Given the description of an element on the screen output the (x, y) to click on. 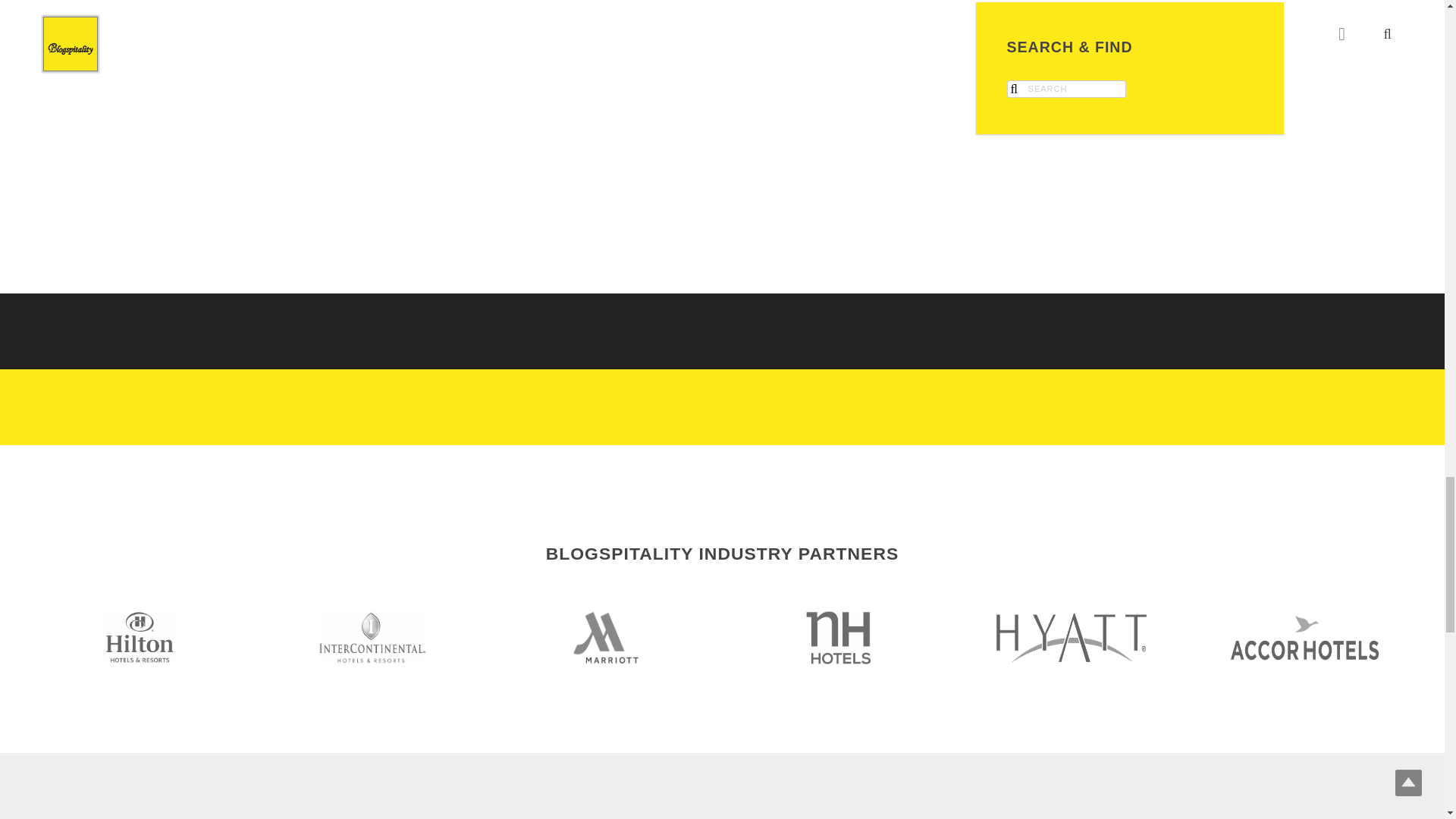
Marriott Hotels (605, 637)
NH Hotels (838, 637)
Hyatt Hotels (1071, 637)
Accor Hotels (1303, 637)
